Given the description of an element on the screen output the (x, y) to click on. 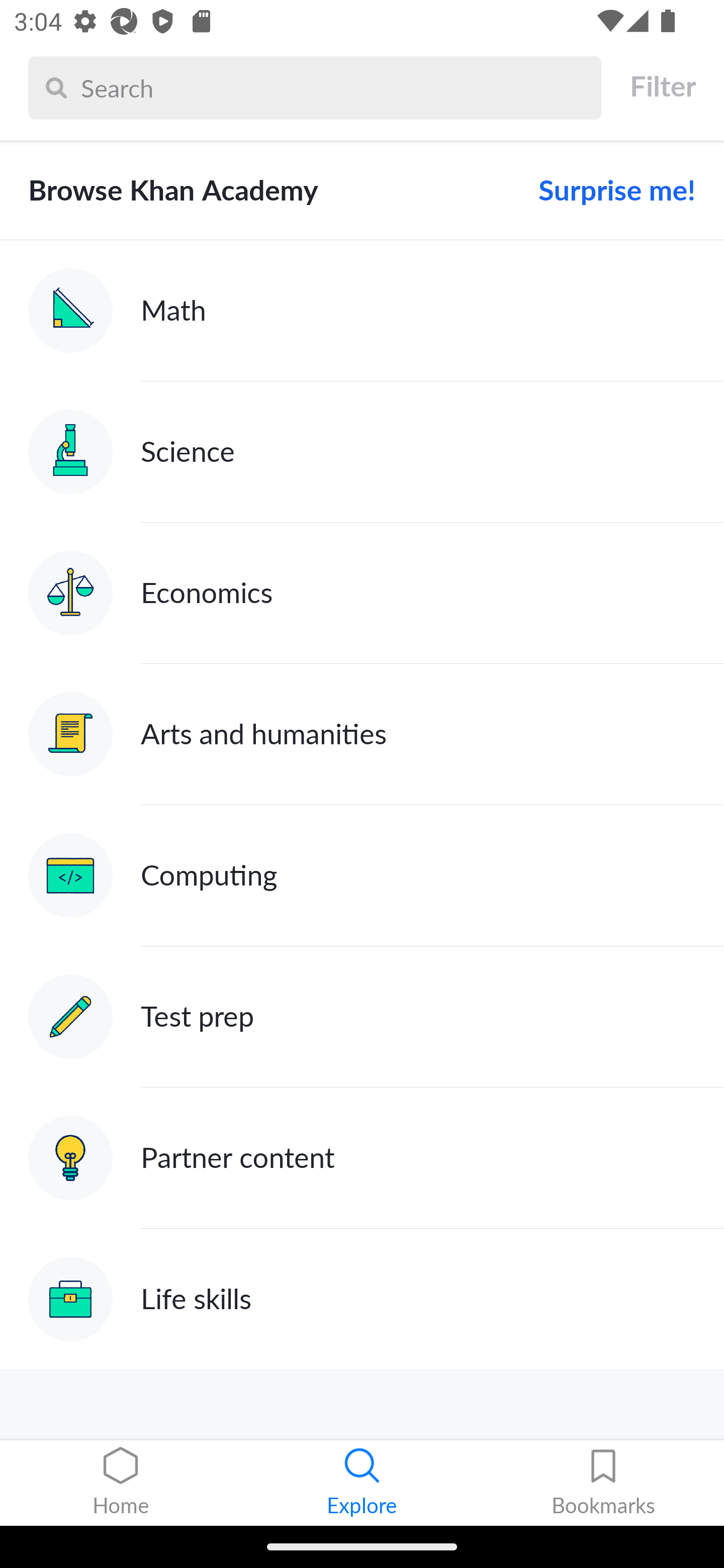
Search Search Search (314, 87)
Search (335, 87)
Filter (662, 85)
Surprise me! (609, 190)
Math (362, 310)
Science (362, 451)
Economics (362, 592)
Arts and humanities (362, 733)
Computing (362, 875)
Test prep (362, 1017)
Partner content (362, 1158)
Life skills (362, 1298)
Home (120, 1482)
Explore (361, 1482)
Bookmarks (603, 1482)
